Given the description of an element on the screen output the (x, y) to click on. 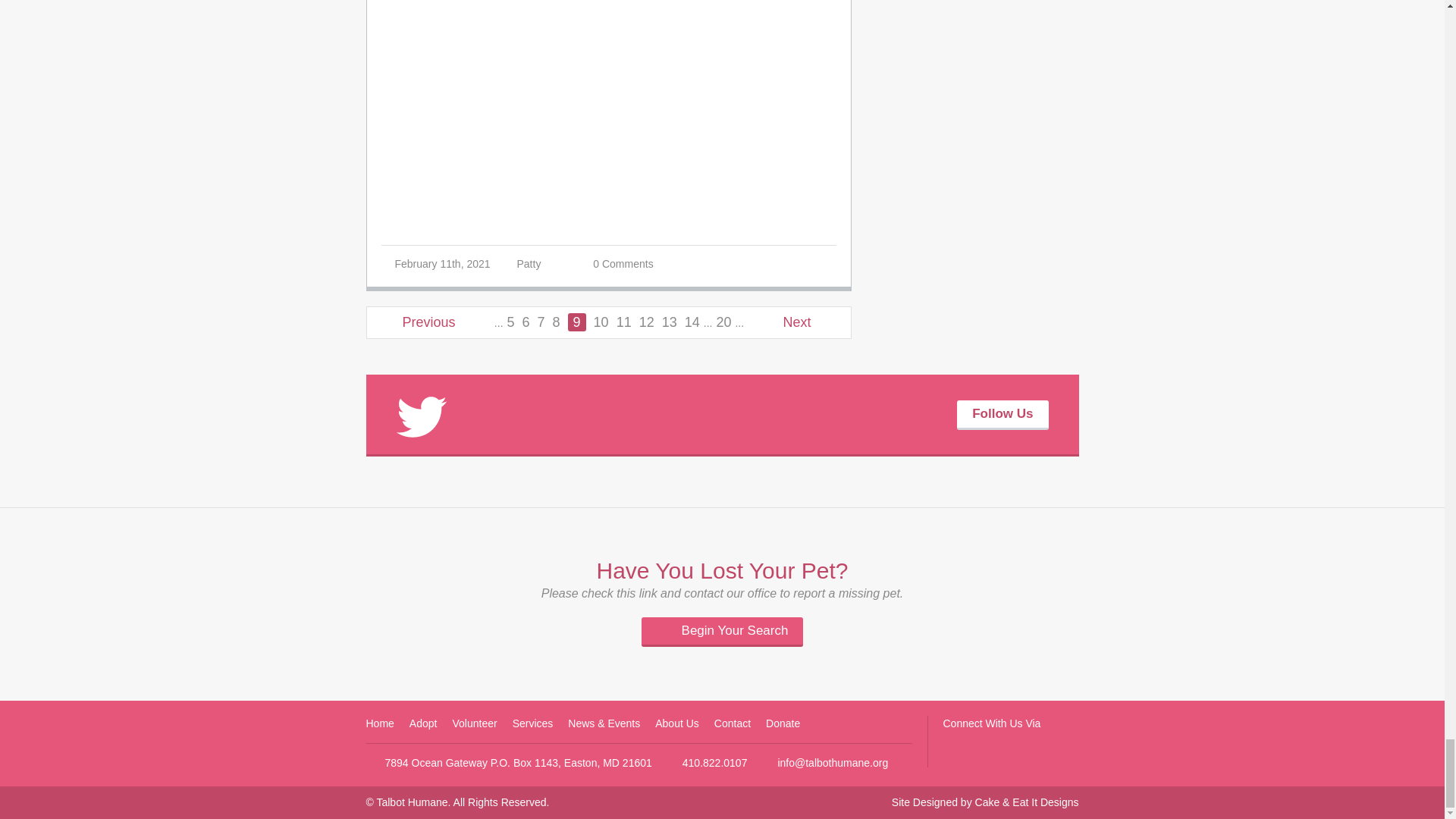
Page 14 (692, 322)
Page 20 (723, 322)
Page 13 (669, 322)
Page 10 (601, 322)
Page 12 (646, 322)
Page 11 (623, 322)
